Given the description of an element on the screen output the (x, y) to click on. 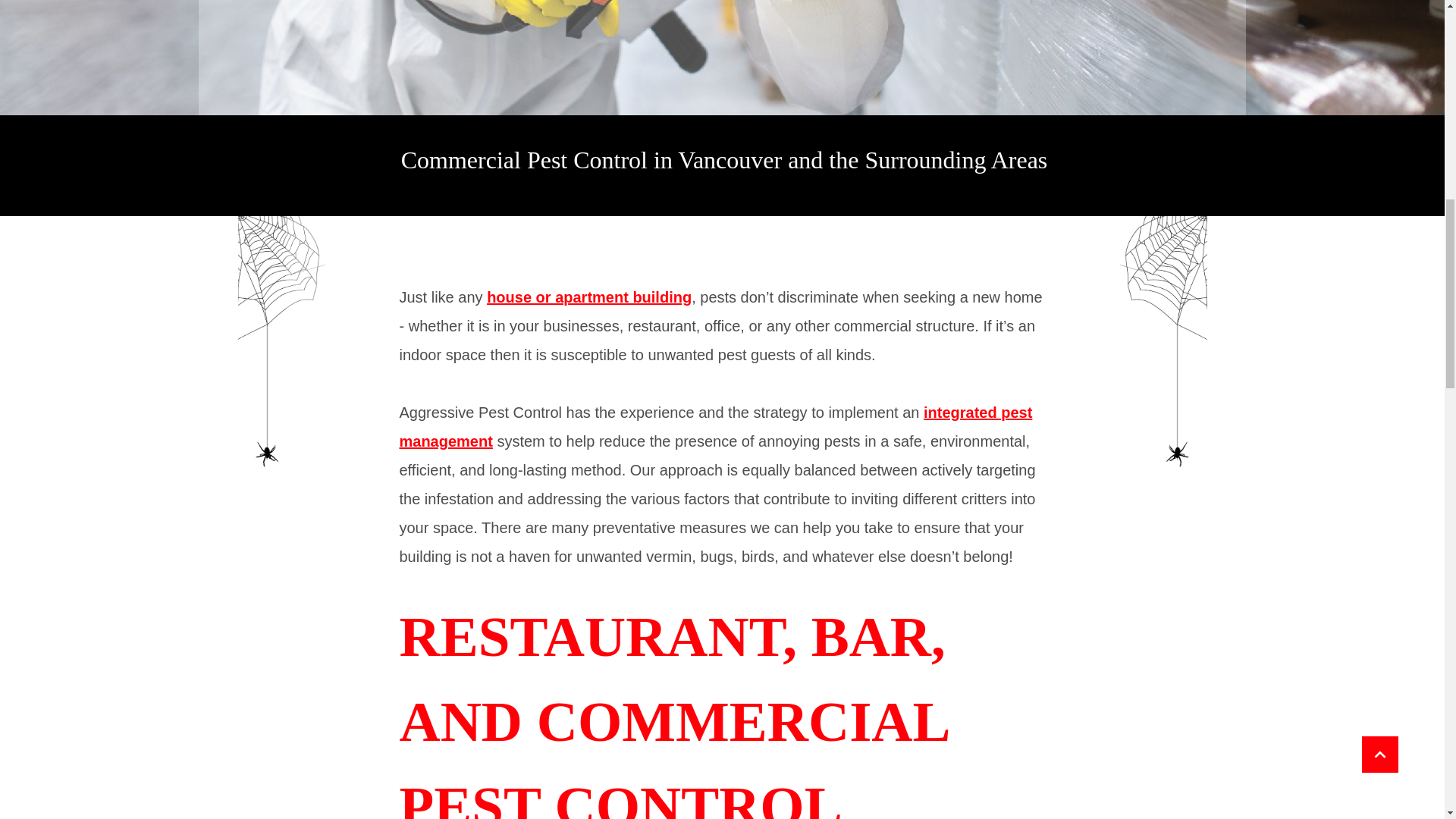
house or apartment building (588, 297)
integrated pest management (715, 426)
